Given the description of an element on the screen output the (x, y) to click on. 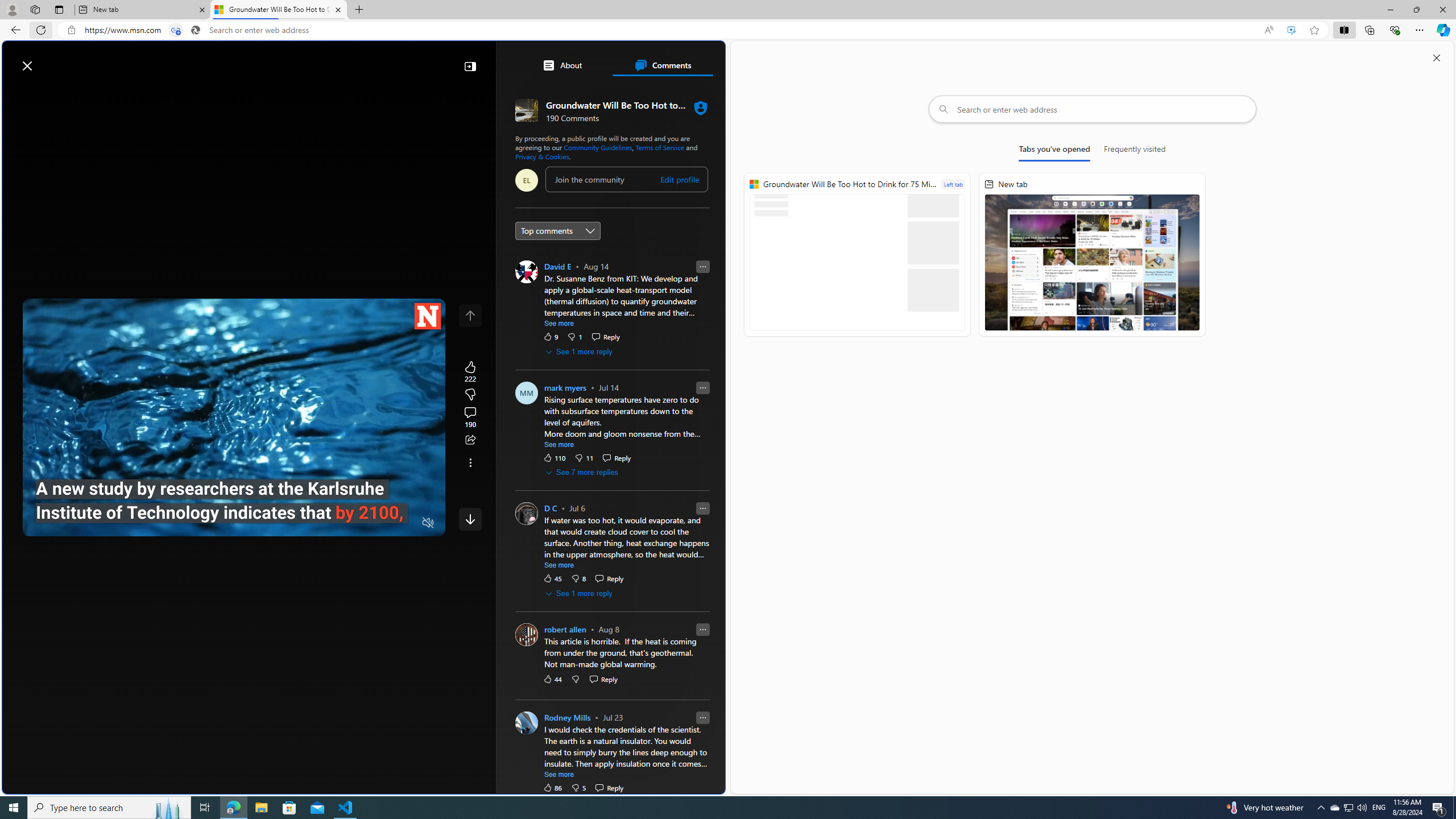
110 Like (554, 457)
See 1 more reply (579, 593)
Search icon (195, 29)
222 Like (469, 371)
Pause (39, 523)
Class: button-glyph (16, 92)
Rodney Mills (567, 717)
mark myers (564, 387)
Privacy & Cookies (542, 156)
